Given the description of an element on the screen output the (x, y) to click on. 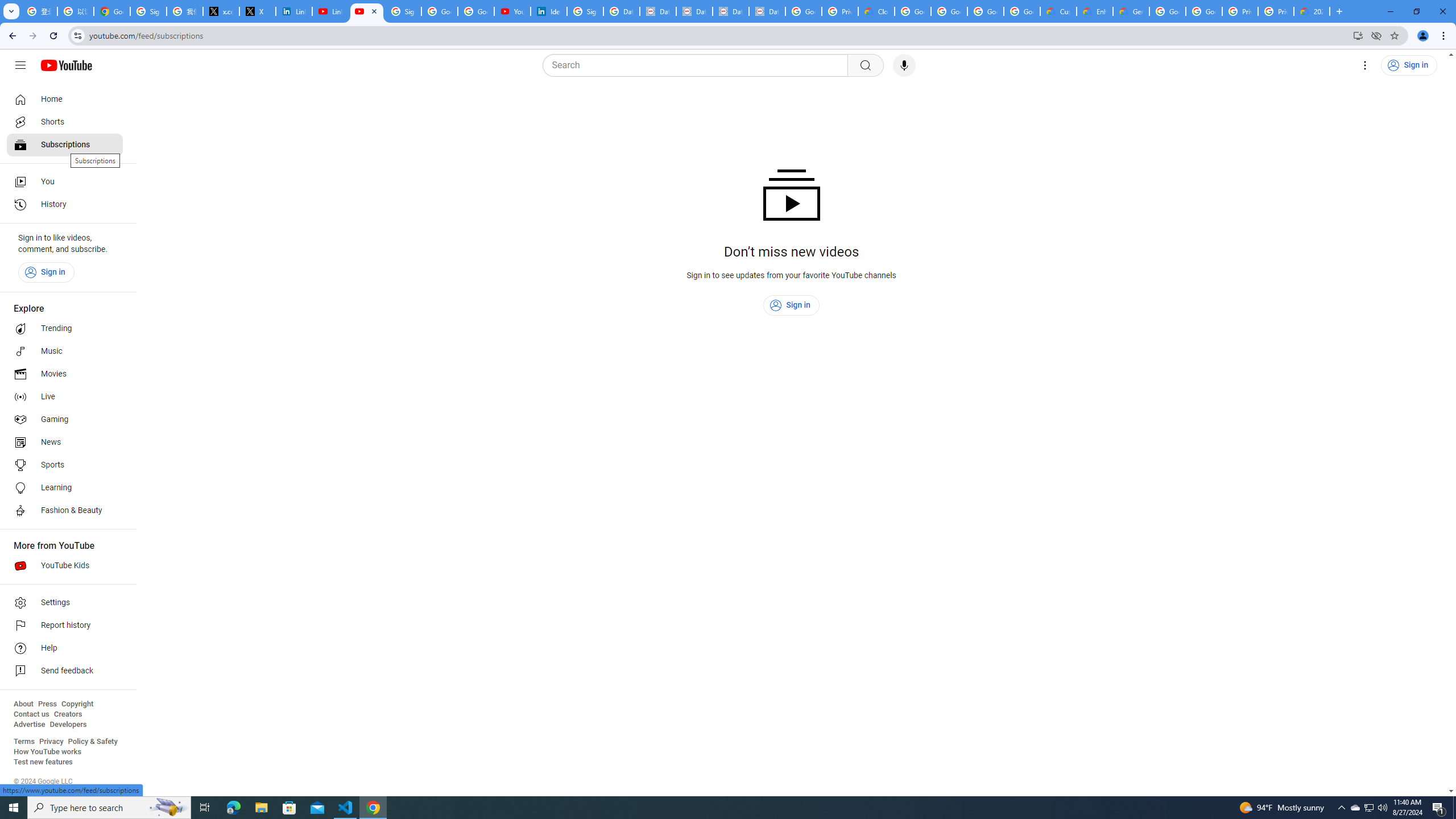
Music (64, 350)
Movies (64, 373)
Sports (64, 464)
Live (64, 396)
Developers (68, 724)
Enhanced Support | Google Cloud (1094, 11)
Sign in - Google Accounts (403, 11)
Test new features (42, 761)
Send feedback (64, 671)
